Given the description of an element on the screen output the (x, y) to click on. 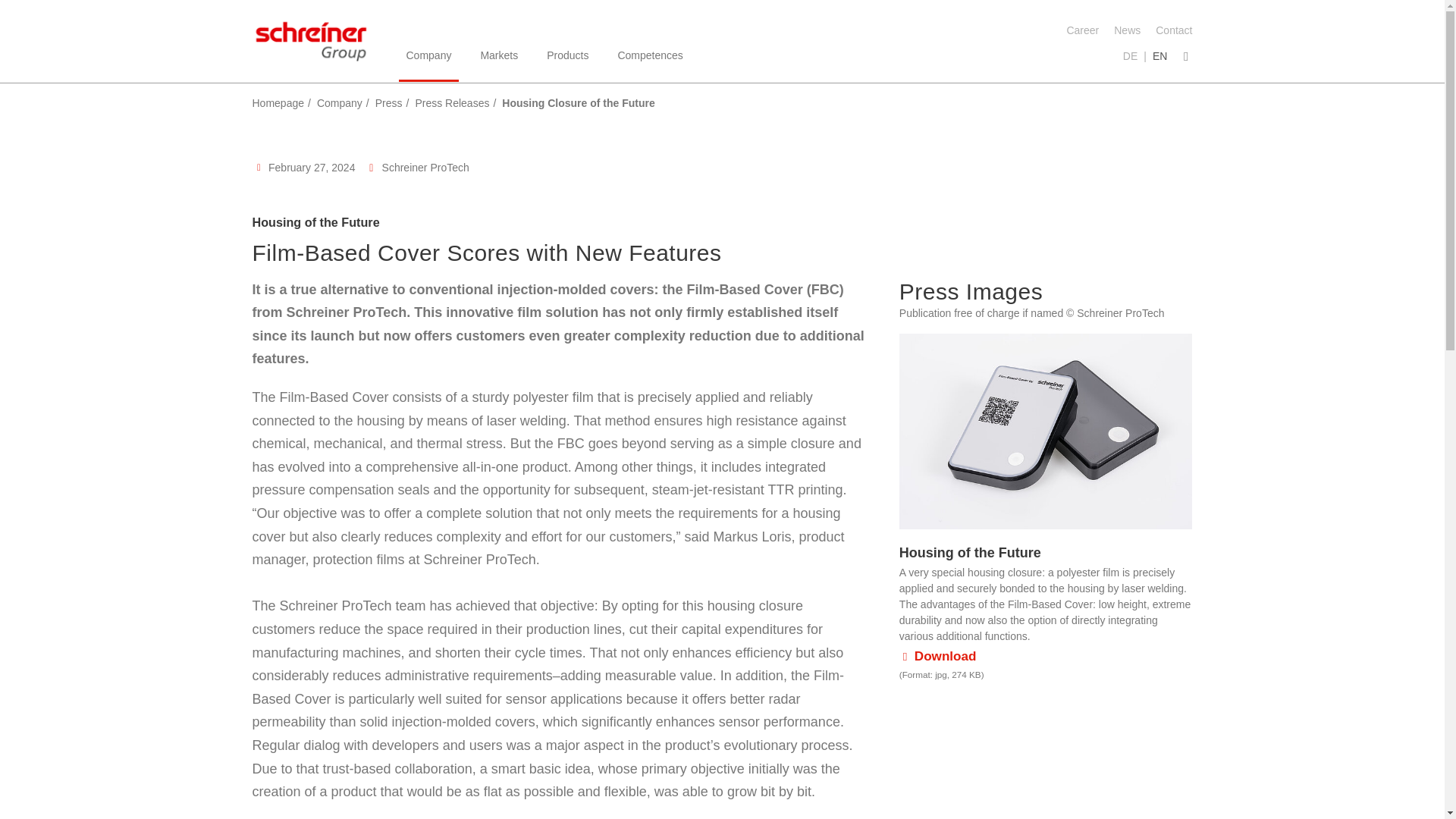
Career (1075, 29)
Contact (1166, 29)
News (1119, 29)
Housing of the Future (937, 656)
Housing of the Future (1045, 431)
